Given the description of an element on the screen output the (x, y) to click on. 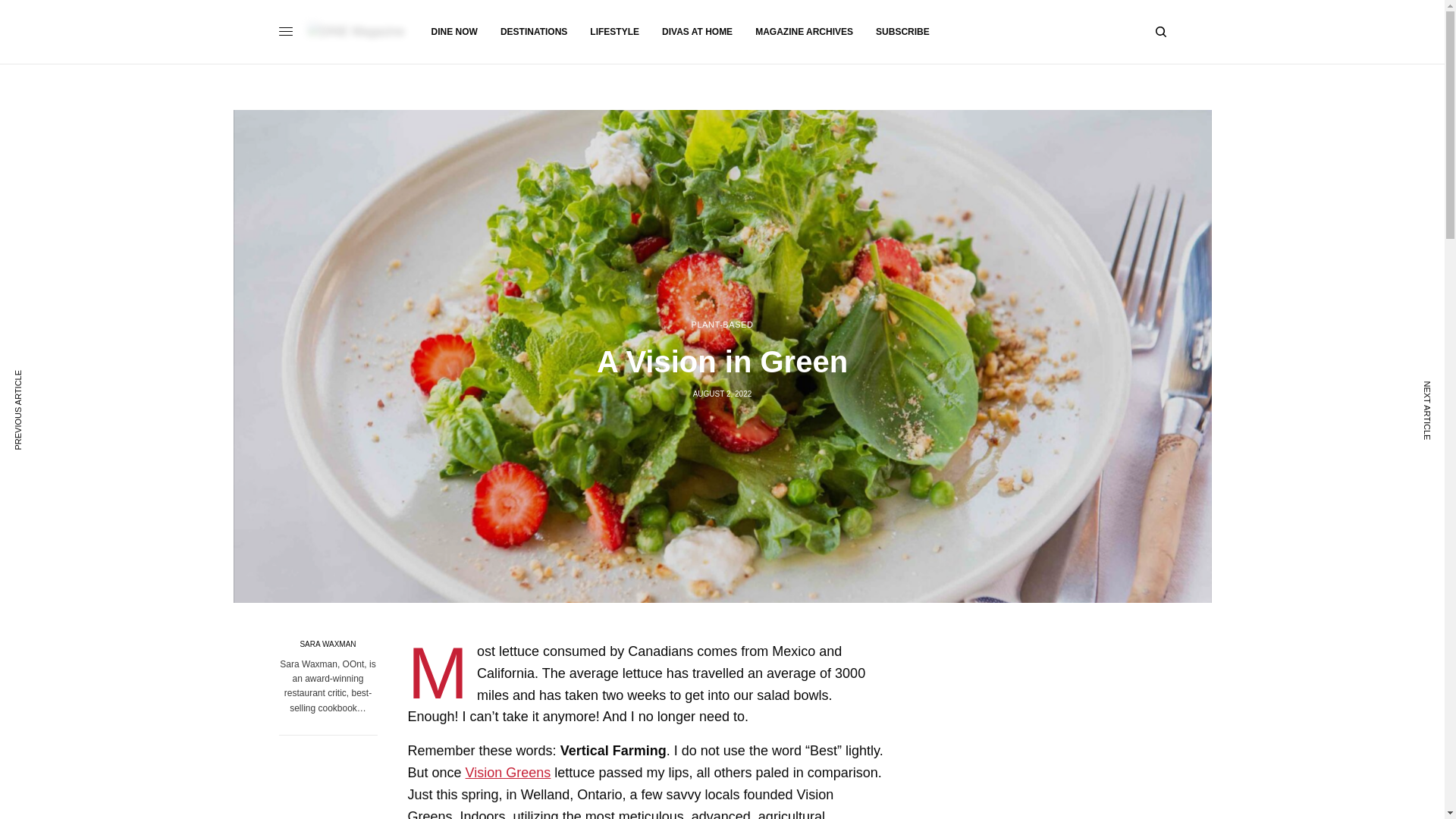
SARA WAXMAN (328, 644)
DIVAS AT HOME (697, 31)
DESTINATIONS (533, 31)
Vision Greens (508, 772)
DINE Magazine (355, 31)
MAGAZINE ARCHIVES (804, 31)
PLANT-BASED (722, 325)
